Given the description of an element on the screen output the (x, y) to click on. 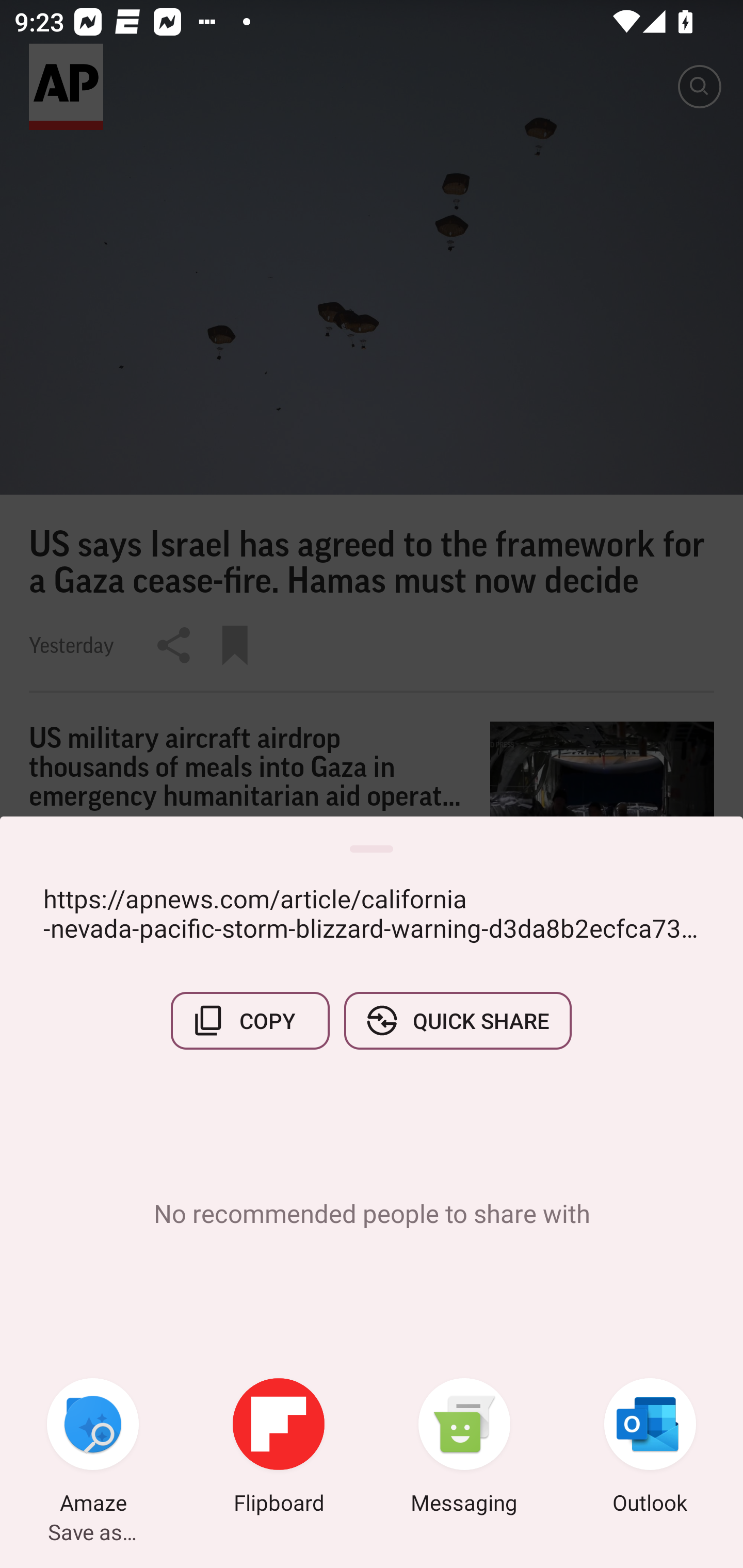
COPY (249, 1020)
QUICK SHARE (457, 1020)
Amaze Save as… (92, 1448)
Flipboard (278, 1448)
Messaging (464, 1448)
Outlook (650, 1448)
